Given the description of an element on the screen output the (x, y) to click on. 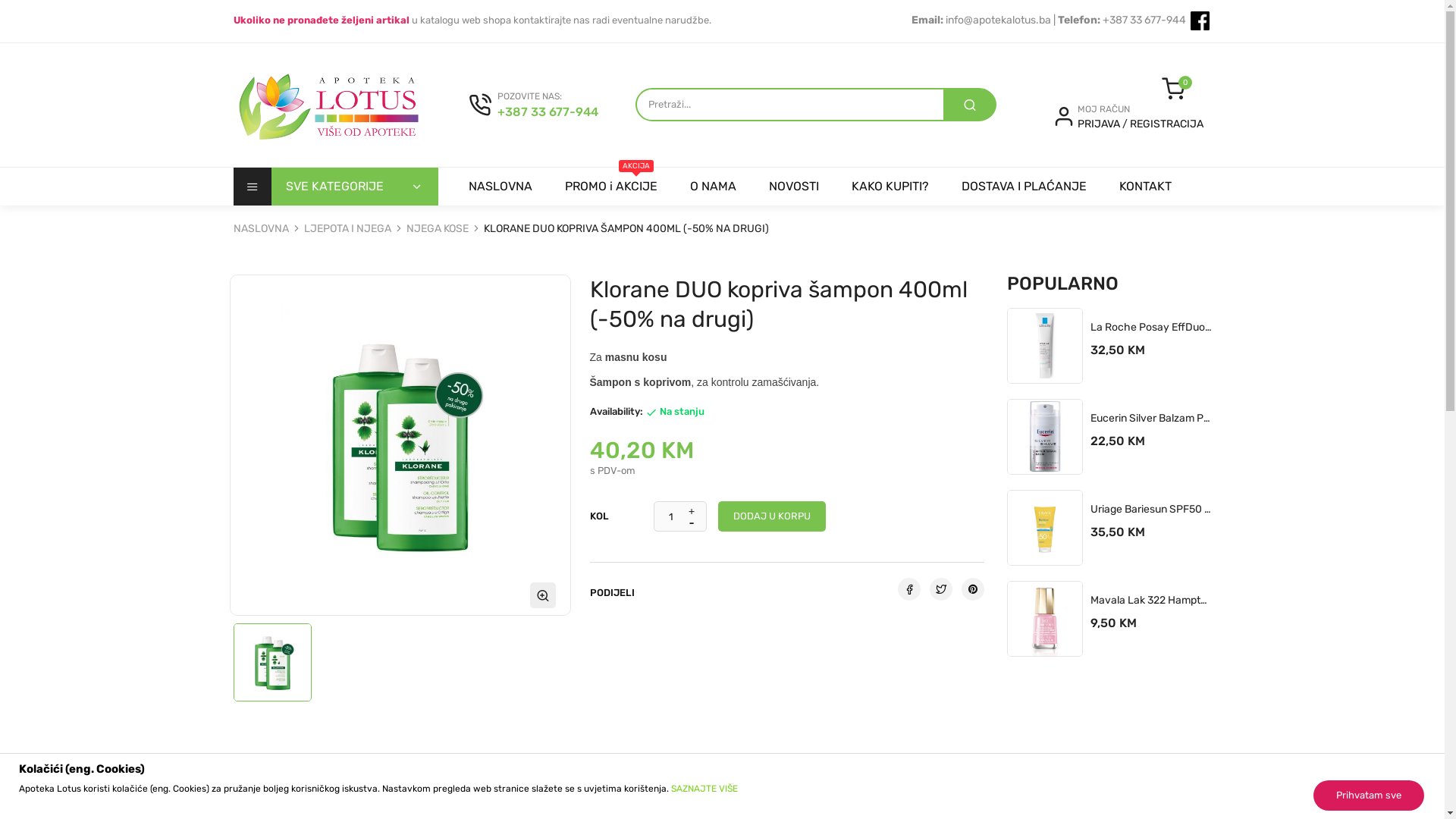
Eucerin Silver Balzam Poslije Brijanja Element type: text (1150, 419)
Prihvatam sve Element type: text (1368, 794)
DODAJ U KORPU Element type: text (1046, 389)
DODAJ U KORPU Element type: text (1046, 662)
DODAJ U KORPU Element type: text (771, 516)
Mavala Lak 322 Hamptons Element type: text (1150, 601)
O NAMA Element type: text (712, 186)
Opis Element type: text (252, 786)
DODAJ U KORPU Element type: text (1046, 571)
PRIJAVA Element type: text (1099, 123)
Search Products Element type: text (969, 104)
La Roche Posay EffDuo+ Uniflight 40 Ml Element type: text (1150, 328)
AKCIJA
PROMO i AKCIJE Element type: text (610, 186)
NASLOVNA Element type: text (500, 186)
NASLOVNA Element type: text (262, 228)
DODAJ U KORPU Element type: text (1046, 480)
KAKO KUPITI? Element type: text (889, 186)
KONTAKT Element type: text (1145, 186)
LJEPOTA I NJEGA Element type: text (347, 228)
Reviews Element type: text (517, 786)
0 Element type: text (1172, 88)
NJEGA KOSE Element type: text (438, 228)
Tweet Element type: text (940, 588)
Podijeli Element type: text (908, 588)
NOVOSTI Element type: text (793, 186)
Pinterest Element type: text (972, 588)
REGISTRACIJA Element type: text (1166, 123)
Uriage Bariesun SPF50 Mlijeko 100ml Element type: text (1150, 510)
Detalji proizvoda Element type: text (375, 786)
